Given the description of an element on the screen output the (x, y) to click on. 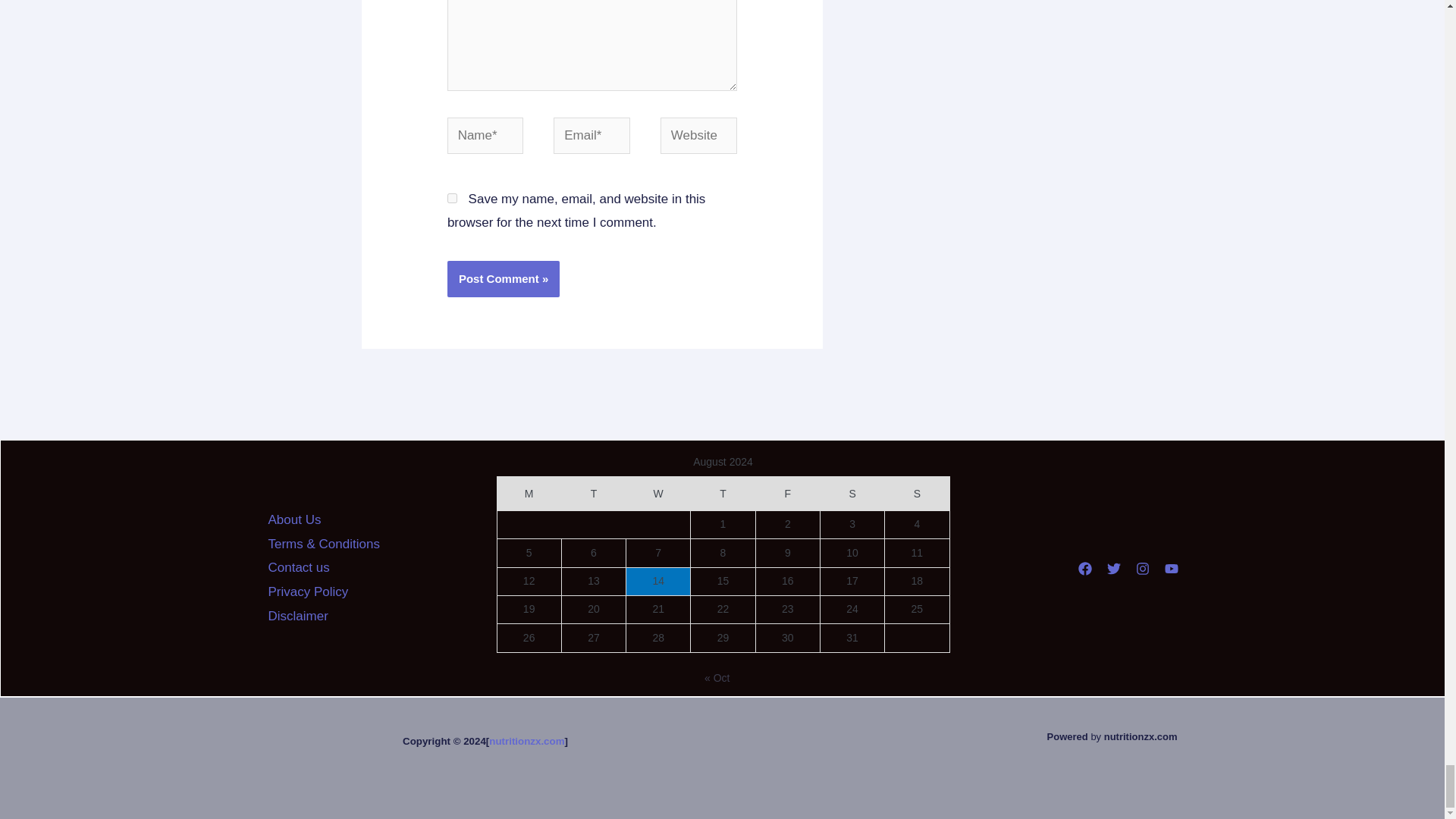
yes (451, 198)
Wednesday (658, 493)
Friday (787, 493)
Sunday (917, 493)
Thursday (722, 493)
Tuesday (593, 493)
Monday (528, 493)
Saturday (851, 493)
